Given the description of an element on the screen output the (x, y) to click on. 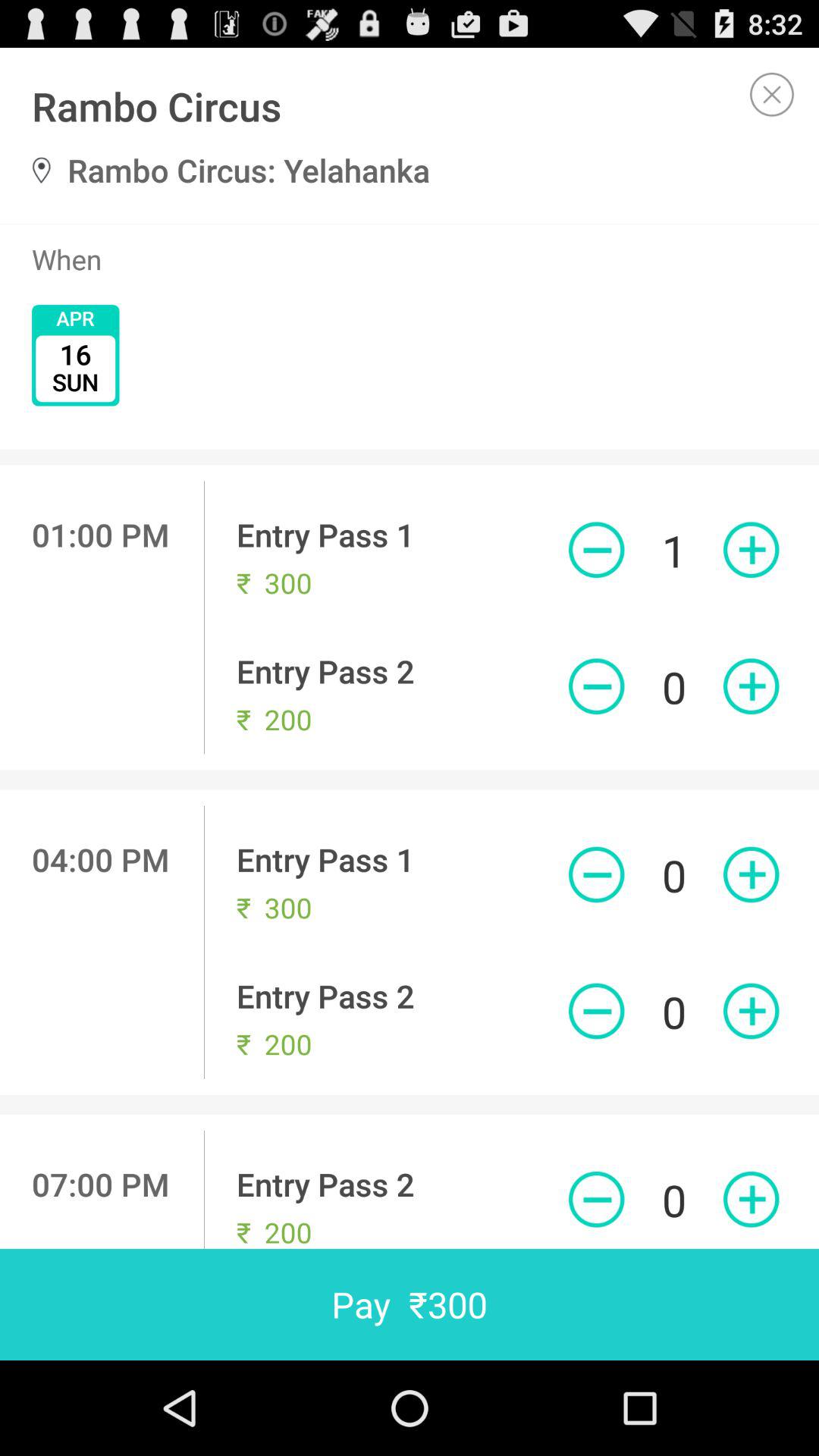
add another entry pass (751, 549)
